Given the description of an element on the screen output the (x, y) to click on. 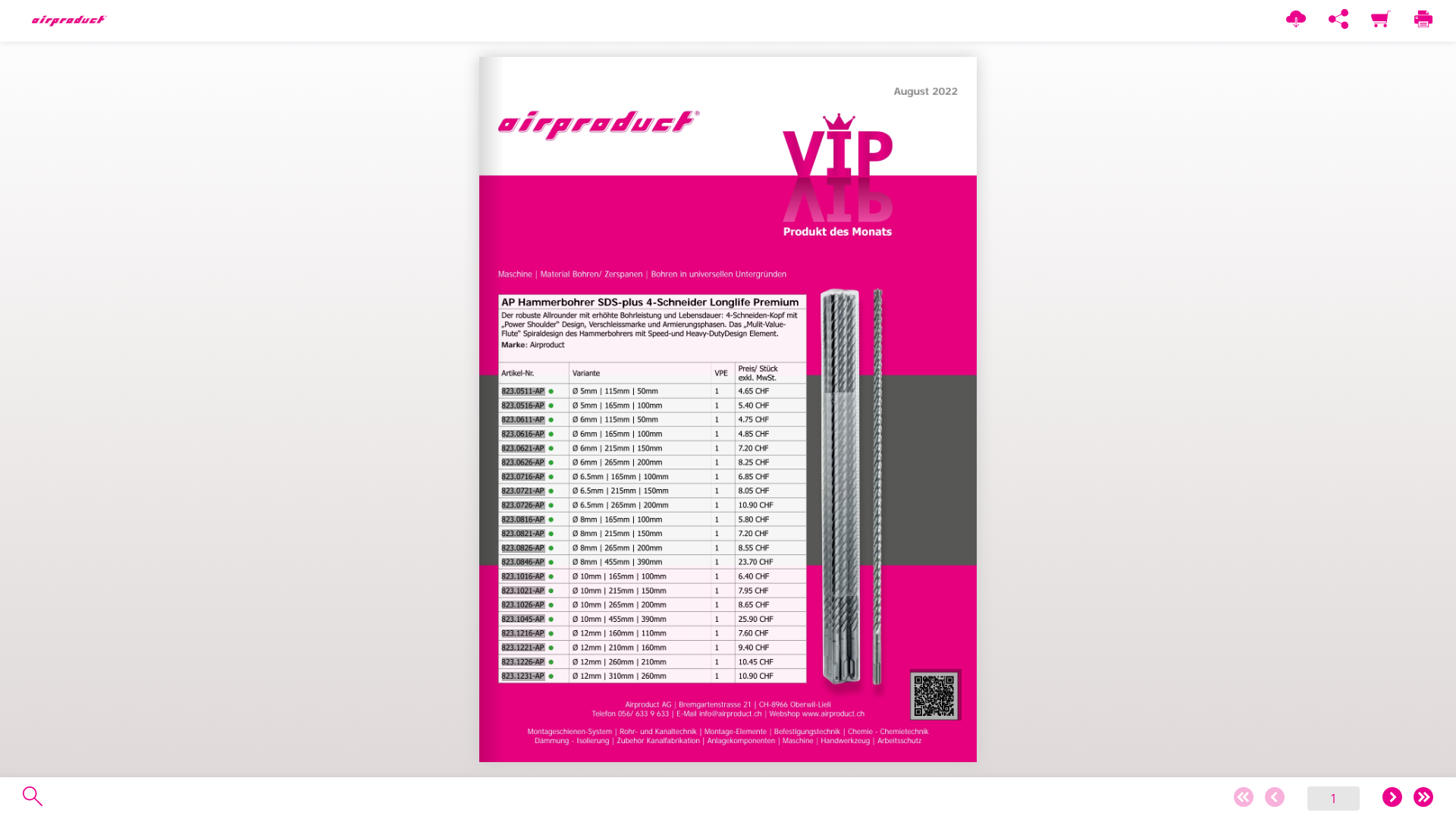
Teilen Element type: hover (1338, 20)
Zur ersten Seite Element type: hover (1243, 798)
Suche Element type: hover (32, 796)
DRUCKEN Element type: hover (1423, 20)
DOWNLOAD Element type: hover (1295, 20)
Warenkorb Element type: hover (1380, 20)
Zur letzten Seite Element type: hover (1423, 798)
